Given the description of an element on the screen output the (x, y) to click on. 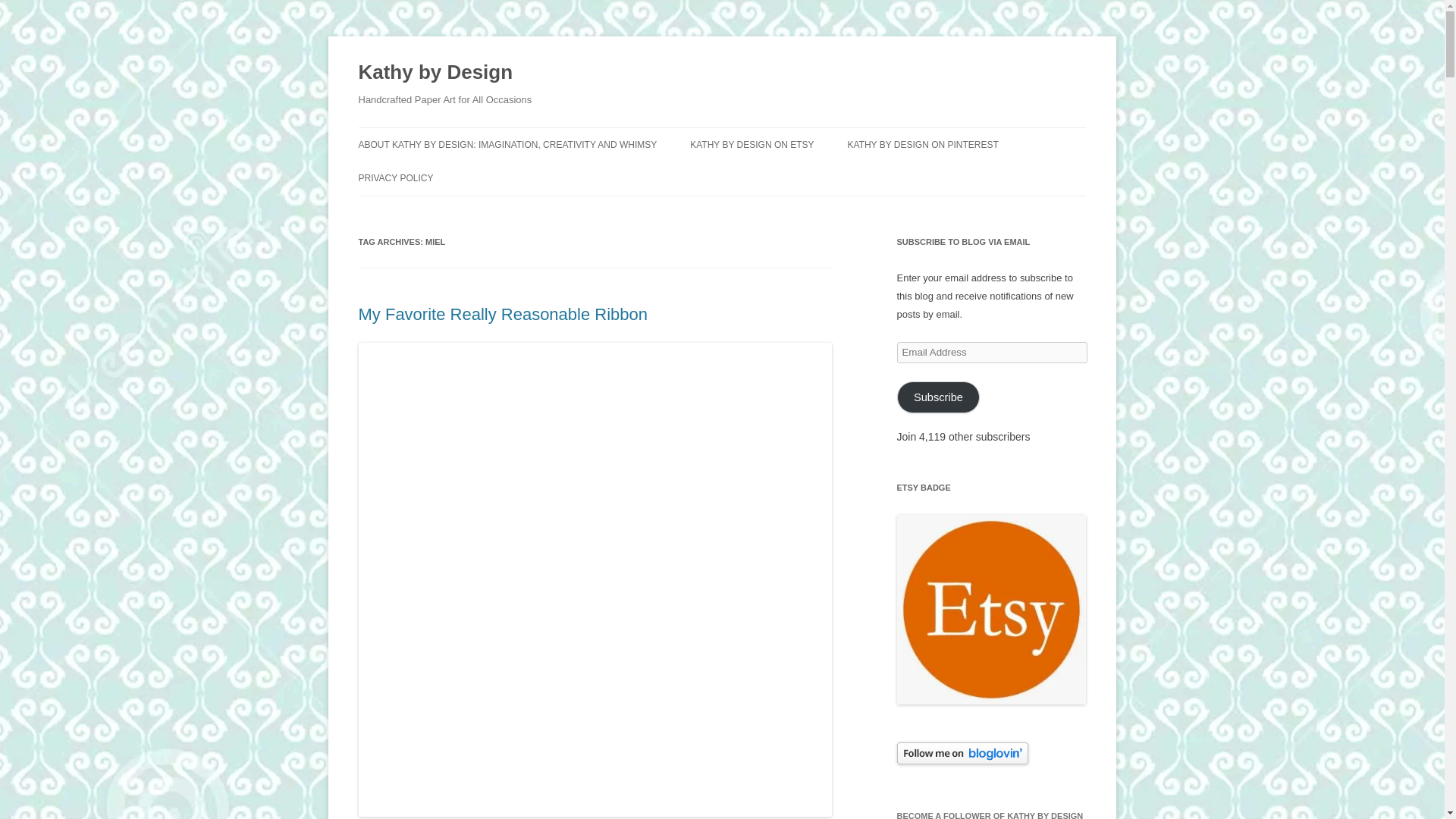
KATHY BY DESIGN ON ETSY (751, 144)
My Favorite Really Reasonable Ribbon (502, 313)
PRIVACY POLICY (395, 177)
Kathy by Design (435, 72)
KATHY BY DESIGN ON PINTEREST (922, 144)
ABOUT KATHY BY DESIGN: IMAGINATION, CREATIVITY AND WHIMSY (507, 144)
